Given the description of an element on the screen output the (x, y) to click on. 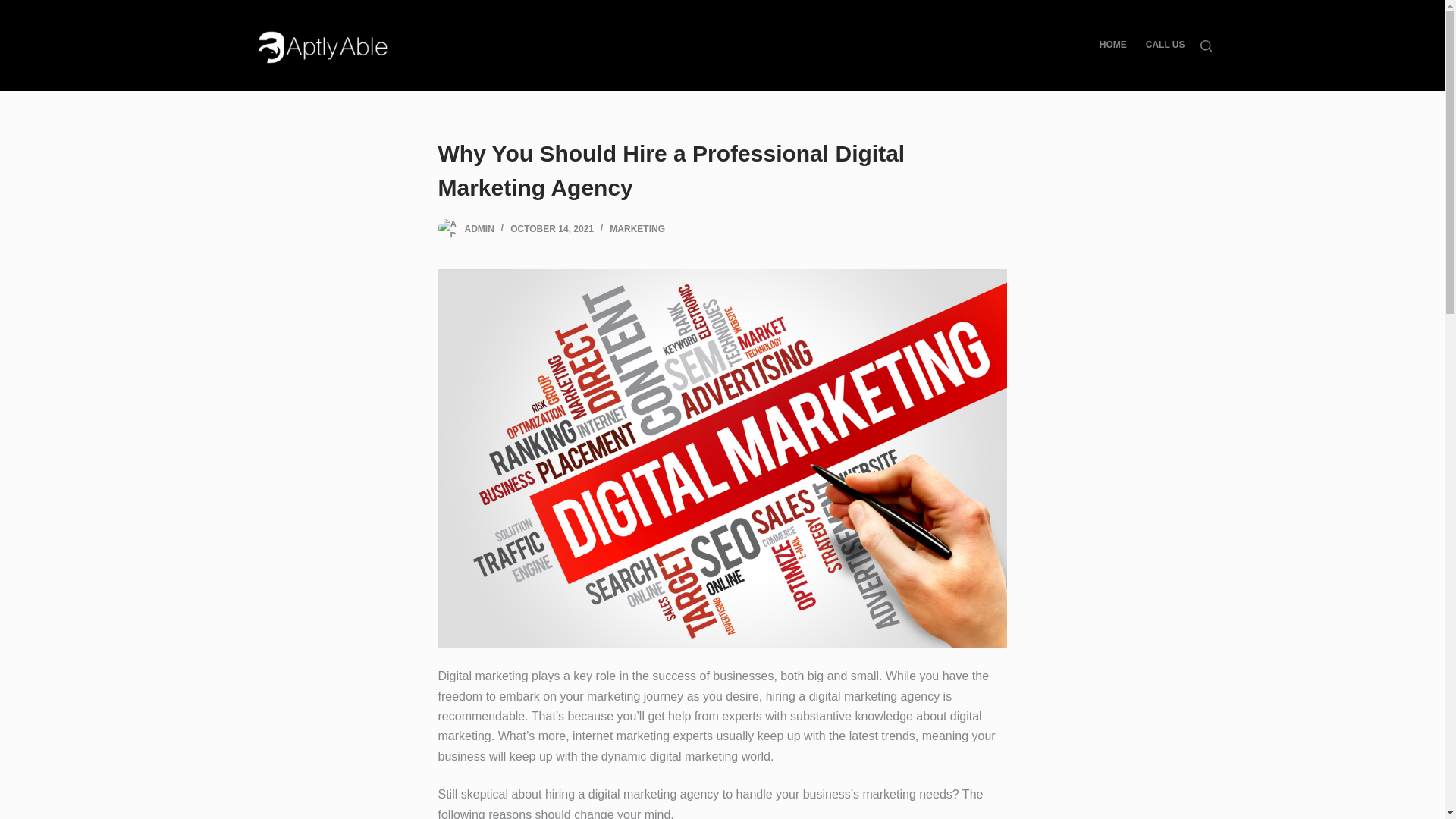
ADMIN (478, 228)
MARKETING (637, 228)
Skip to content (15, 7)
Posts by admin (478, 228)
Why You Should Hire a Professional Digital Marketing Agency (722, 170)
